Given the description of an element on the screen output the (x, y) to click on. 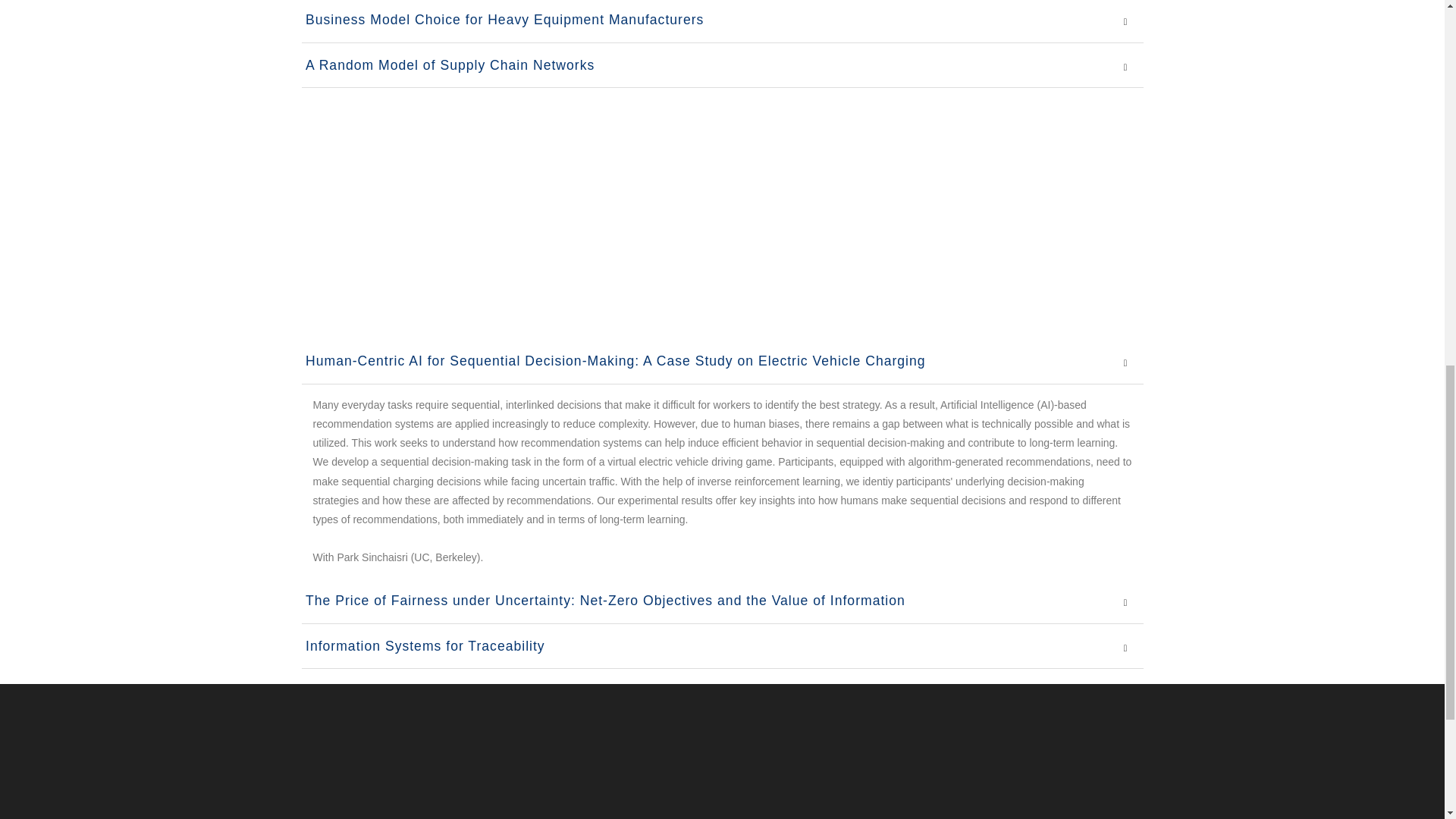
A Random Model of Supply Chain Networks (448, 64)
Business Model Choice for Heavy Equipment Manufacturers (502, 19)
Information Systems for Traceability (422, 645)
